Given the description of an element on the screen output the (x, y) to click on. 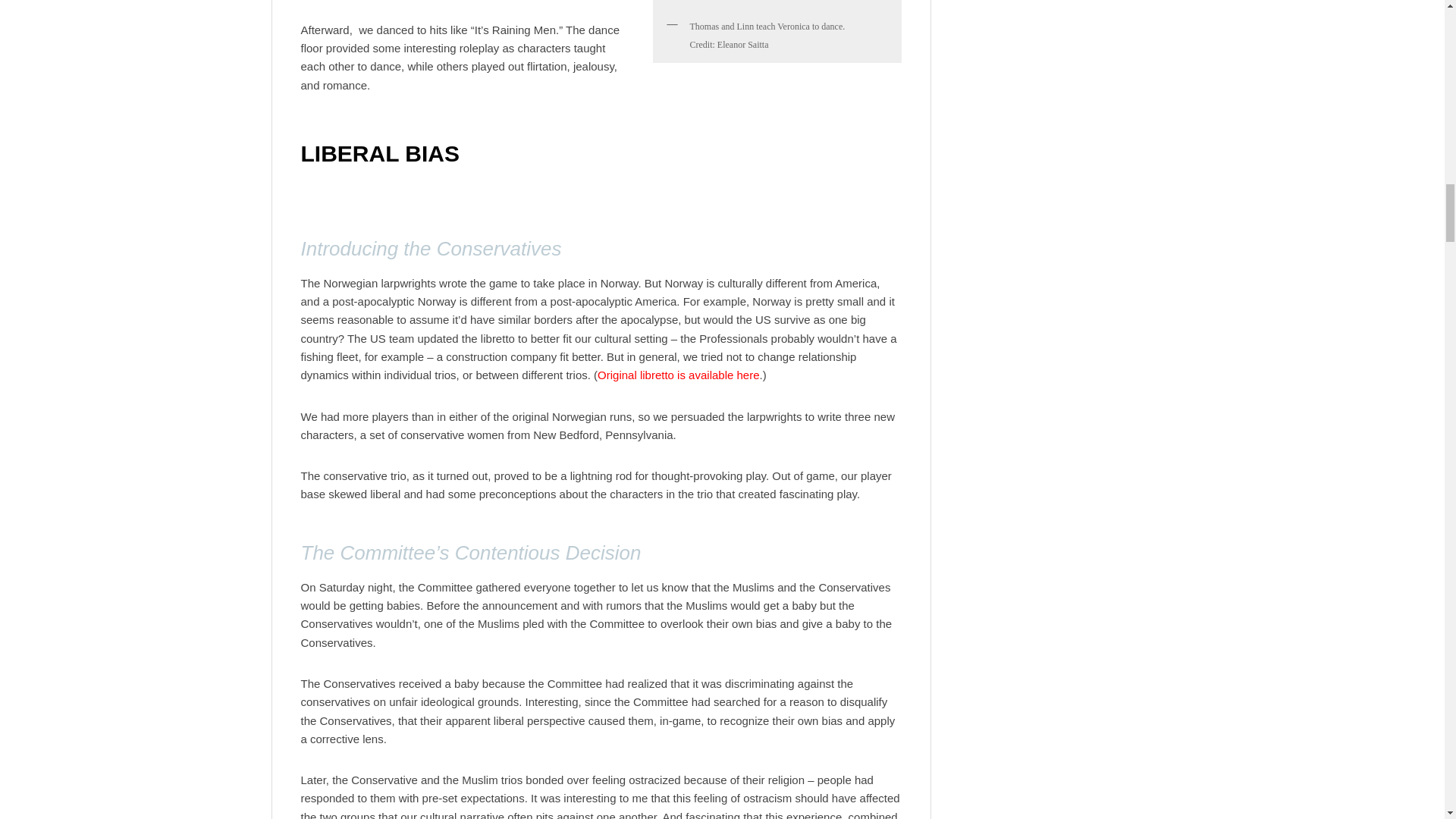
Original libretto is available here (677, 374)
A0600853 (776, 4)
